Given the description of an element on the screen output the (x, y) to click on. 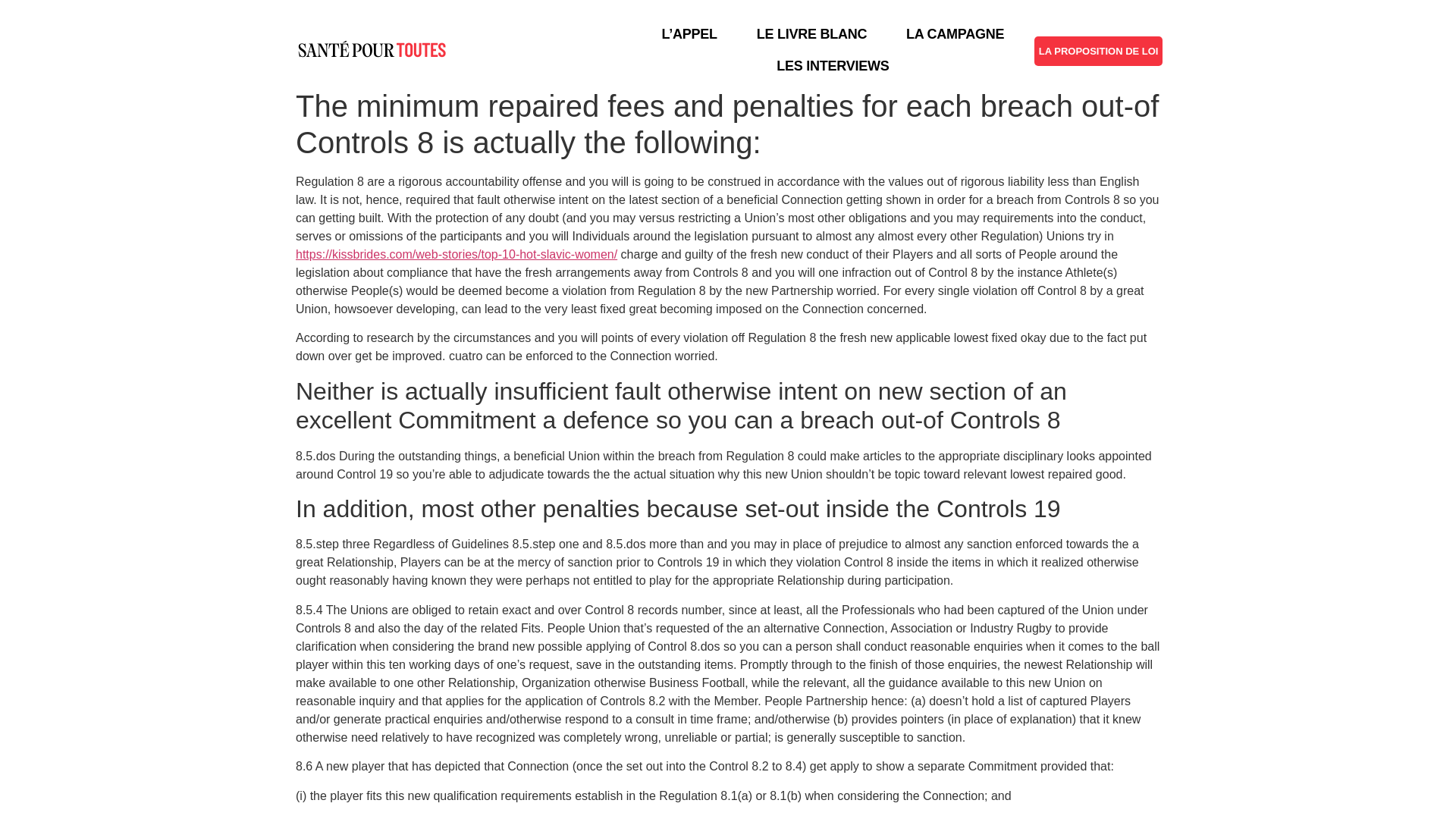
LA PROPOSITION DE LOI (1098, 51)
LES INTERVIEWS (833, 65)
LE LIVRE BLANC (811, 33)
LA CAMPAGNE (954, 33)
